Given the description of an element on the screen output the (x, y) to click on. 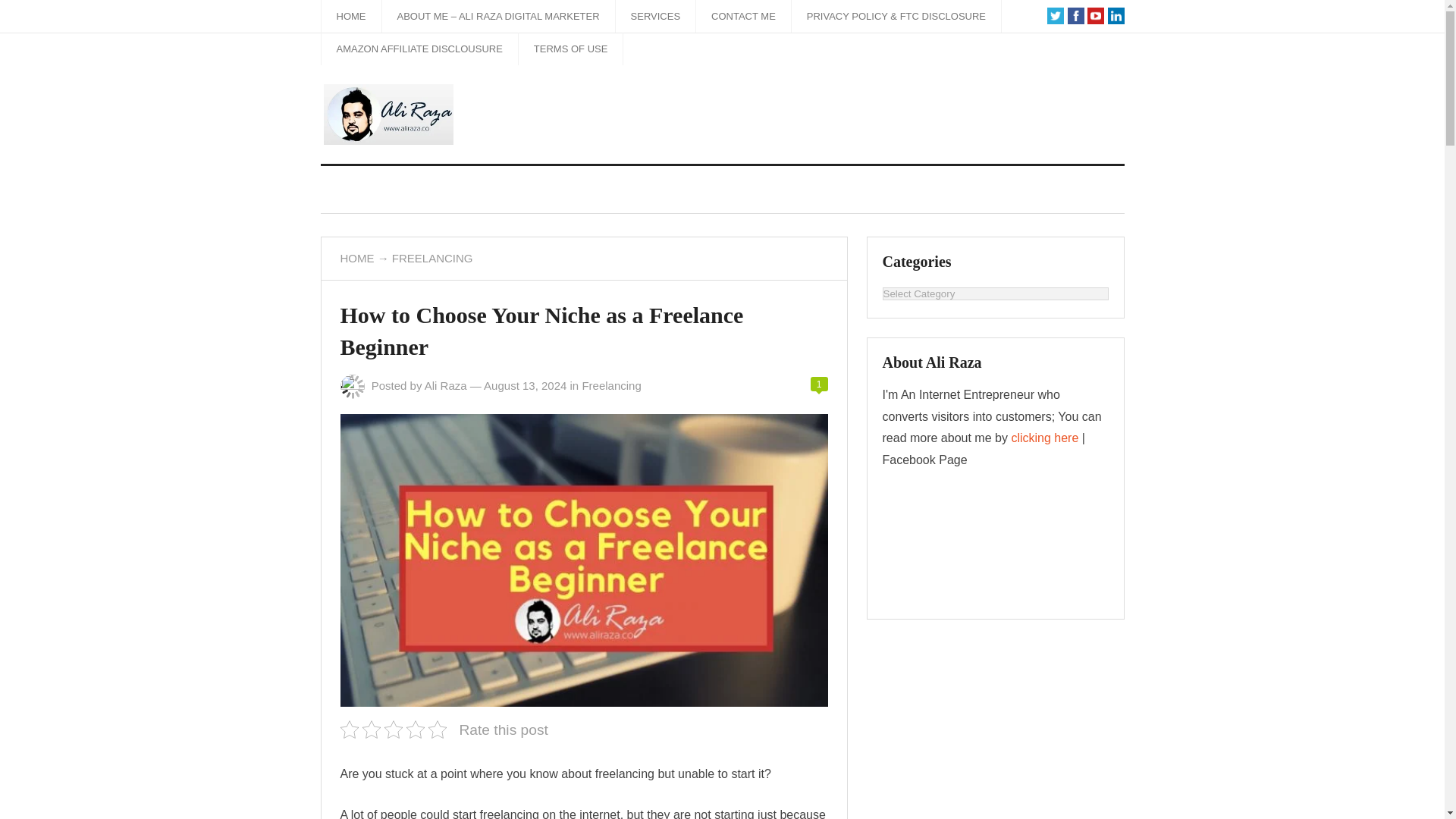
Freelancing (610, 385)
HOME (356, 257)
Ali Raza (446, 385)
View all posts in Freelancing (610, 385)
HOME (351, 16)
SERVICES (655, 16)
Posts by Ali Raza (446, 385)
1 (819, 383)
TERMS OF USE (570, 49)
CONTACT ME (742, 16)
